Given the description of an element on the screen output the (x, y) to click on. 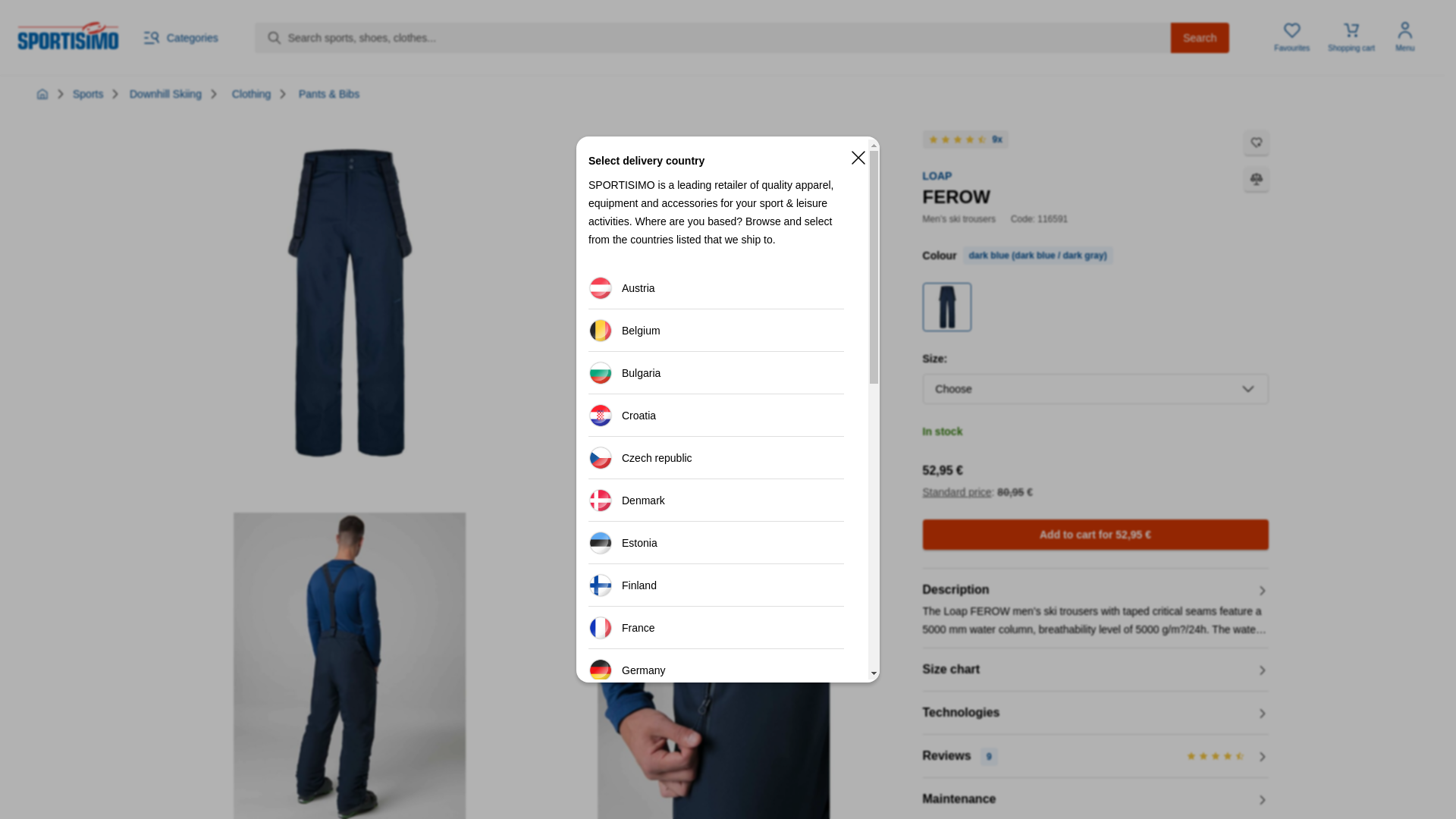
Sportisimo.com (67, 34)
Clothing (250, 93)
Favourites (1292, 37)
LOAP (937, 175)
Categories (180, 37)
Compare (1255, 178)
Downhill Skiing (165, 93)
Search (1199, 37)
Shopping cart (1351, 37)
Menu (1405, 37)
Sports (87, 93)
Ski clothing (250, 93)
Alpine Skiing (165, 93)
SPORTISIMO - EVERYTHING FOR SPORTS AND LEISURE TIME (42, 93)
